Given the description of an element on the screen output the (x, y) to click on. 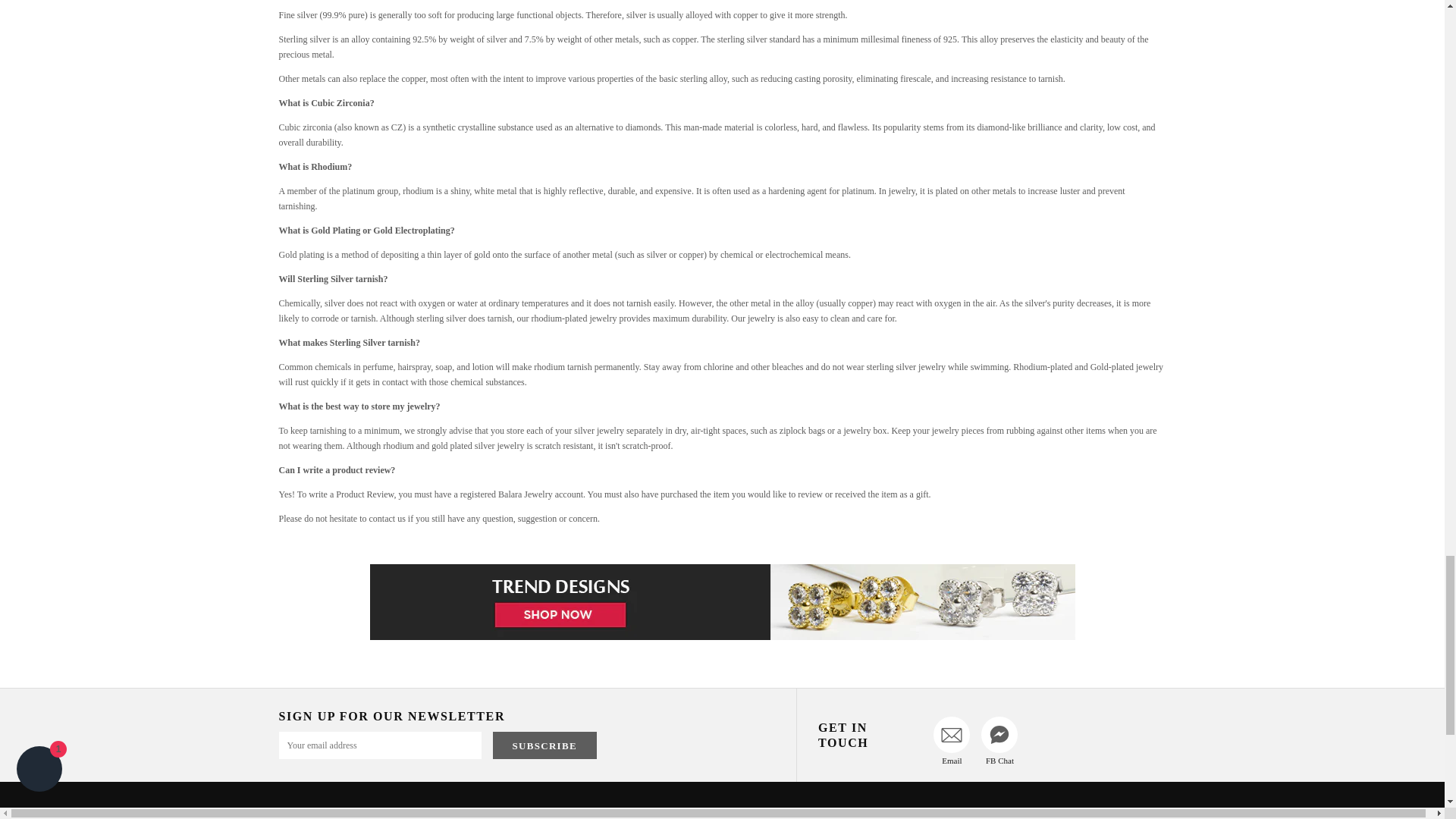
Subscribe (544, 745)
Diamond Forever (722, 601)
